Given the description of an element on the screen output the (x, y) to click on. 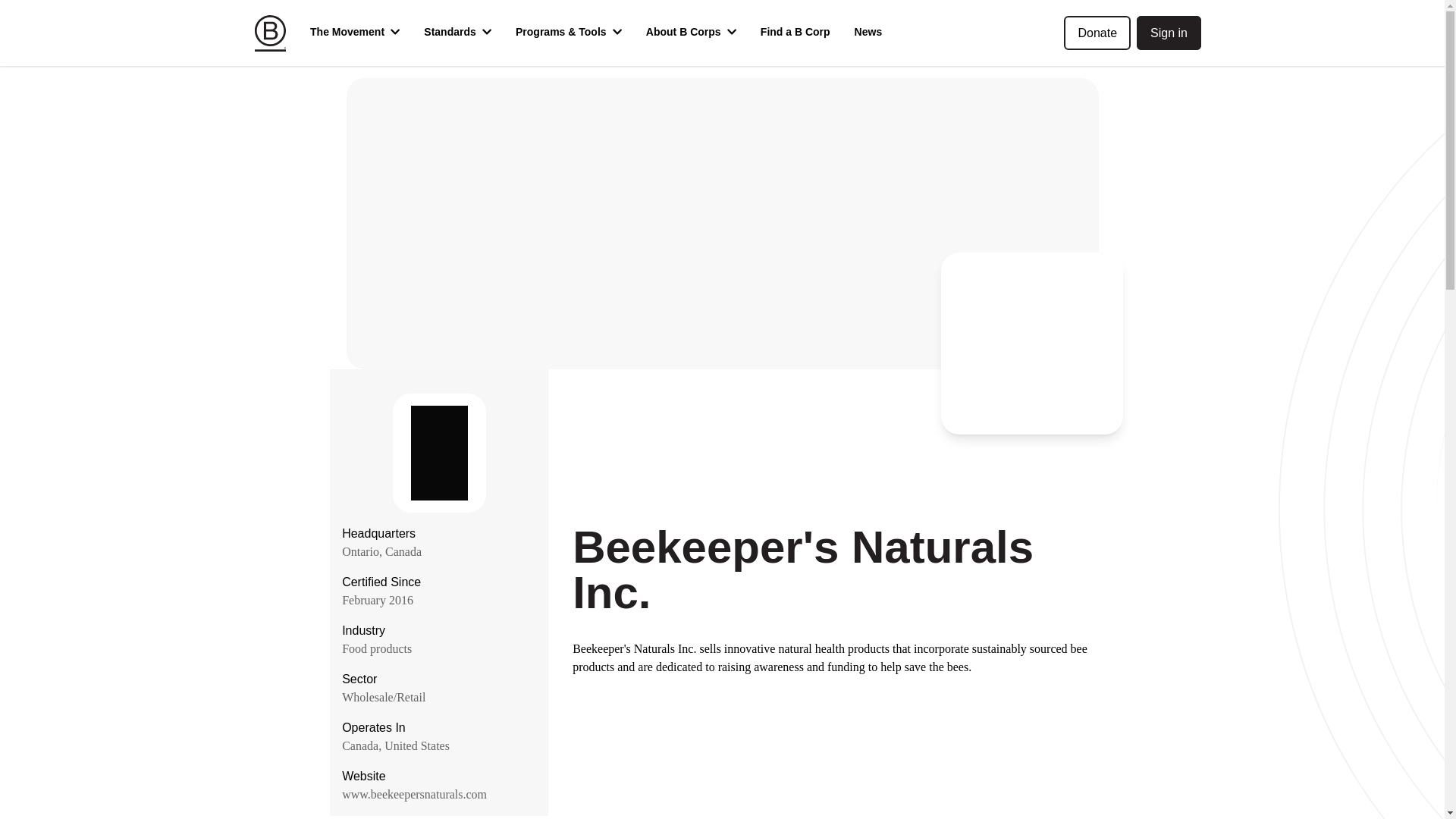
Sign in (1169, 32)
Donate (1097, 32)
News (869, 33)
Find a B Corp (795, 33)
